Given the description of an element on the screen output the (x, y) to click on. 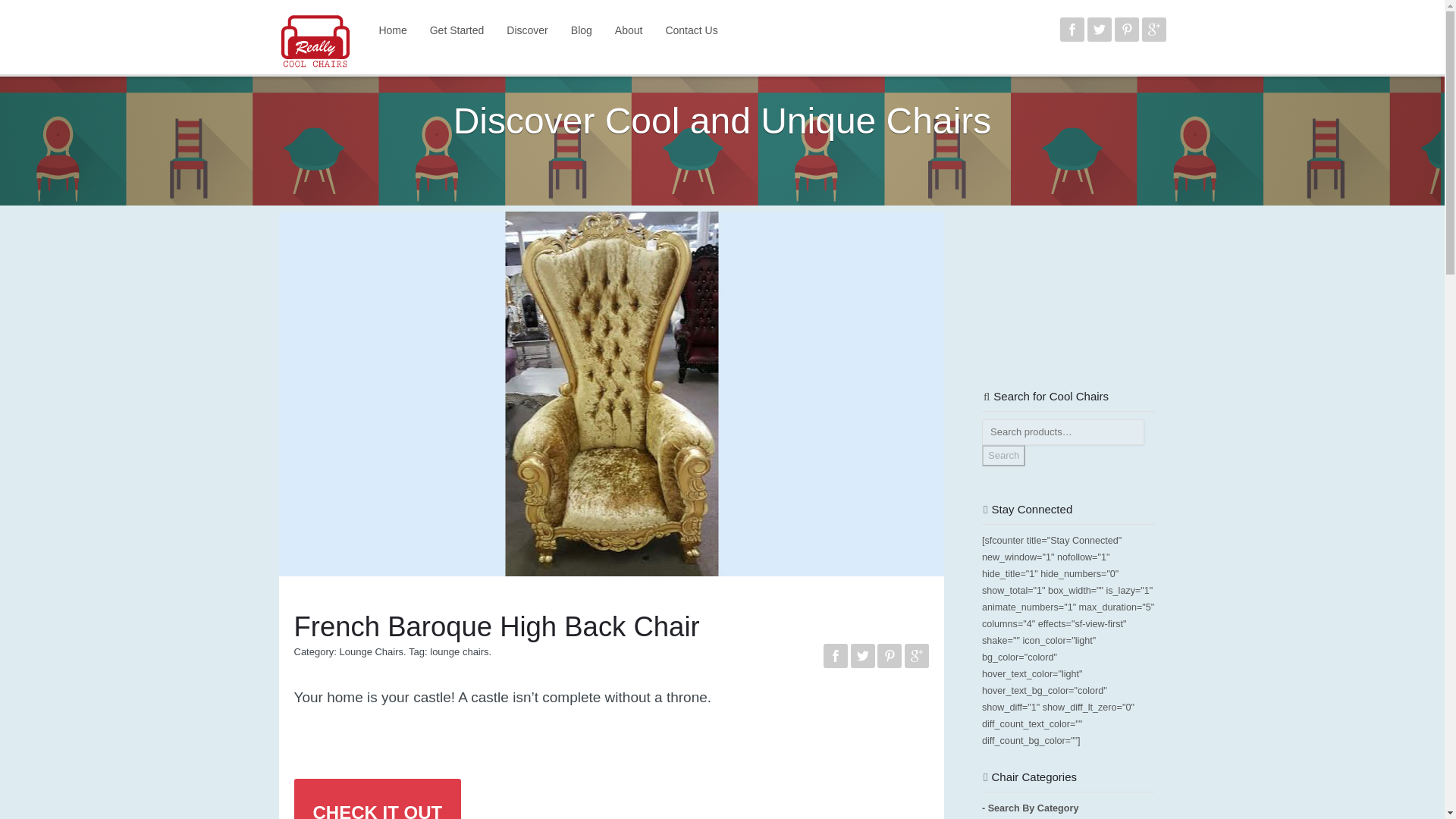
Home (391, 29)
Lounge Chairs (371, 651)
lounge chairs (458, 651)
Search for Cool Chairs by Category (1029, 808)
Blog (581, 29)
Advertisement (1057, 287)
Contact Us (691, 29)
About (628, 29)
Discover (527, 29)
Go to Really Cool Chairs homepage (391, 29)
Read our latest posts (581, 29)
Discover cool and unique chairs today (527, 29)
Contact the Really Cool Chairs team (691, 29)
CHECK IT OUT (377, 798)
